Given the description of an element on the screen output the (x, y) to click on. 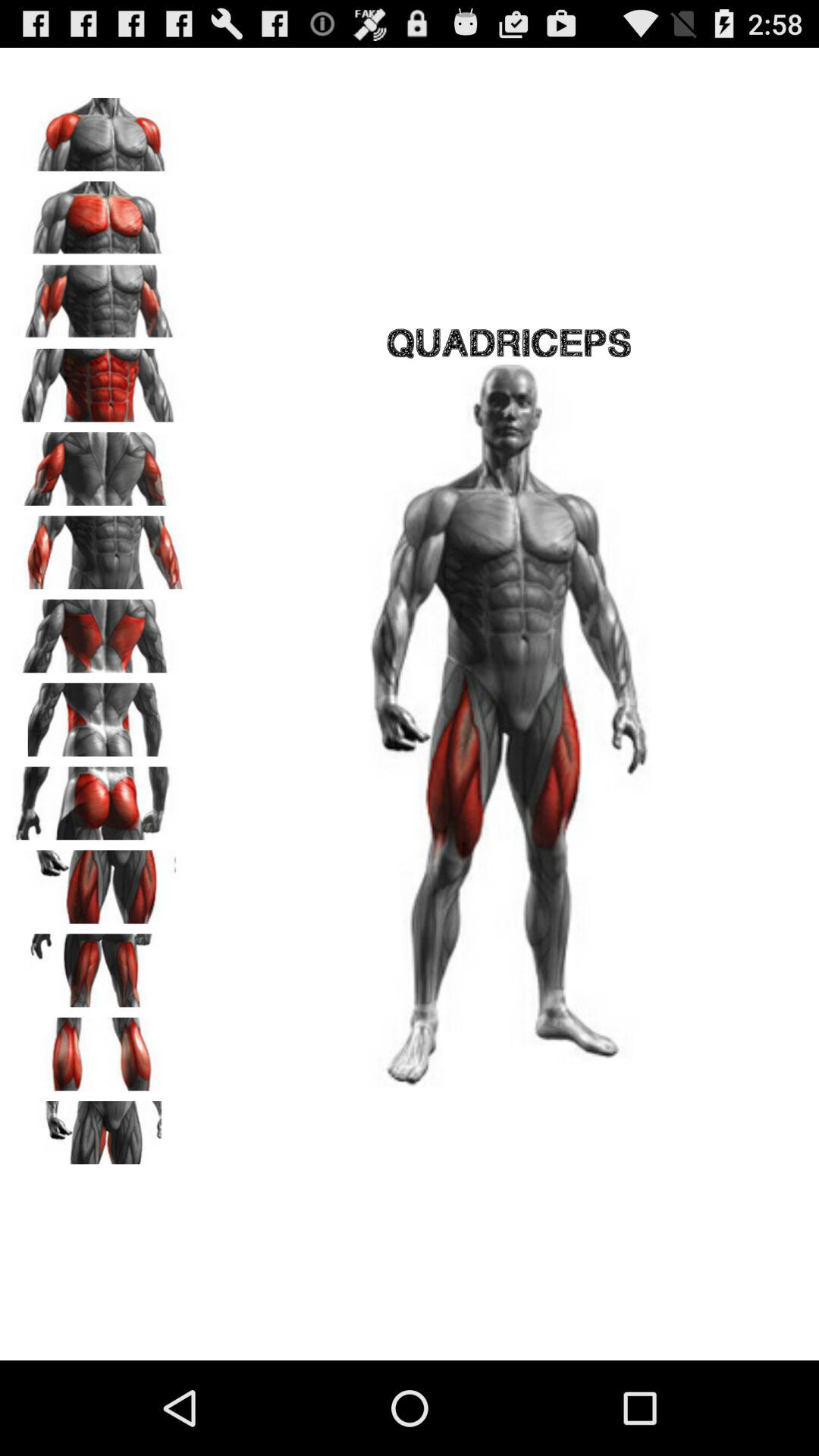
chest muscles (99, 212)
